Given the description of an element on the screen output the (x, y) to click on. 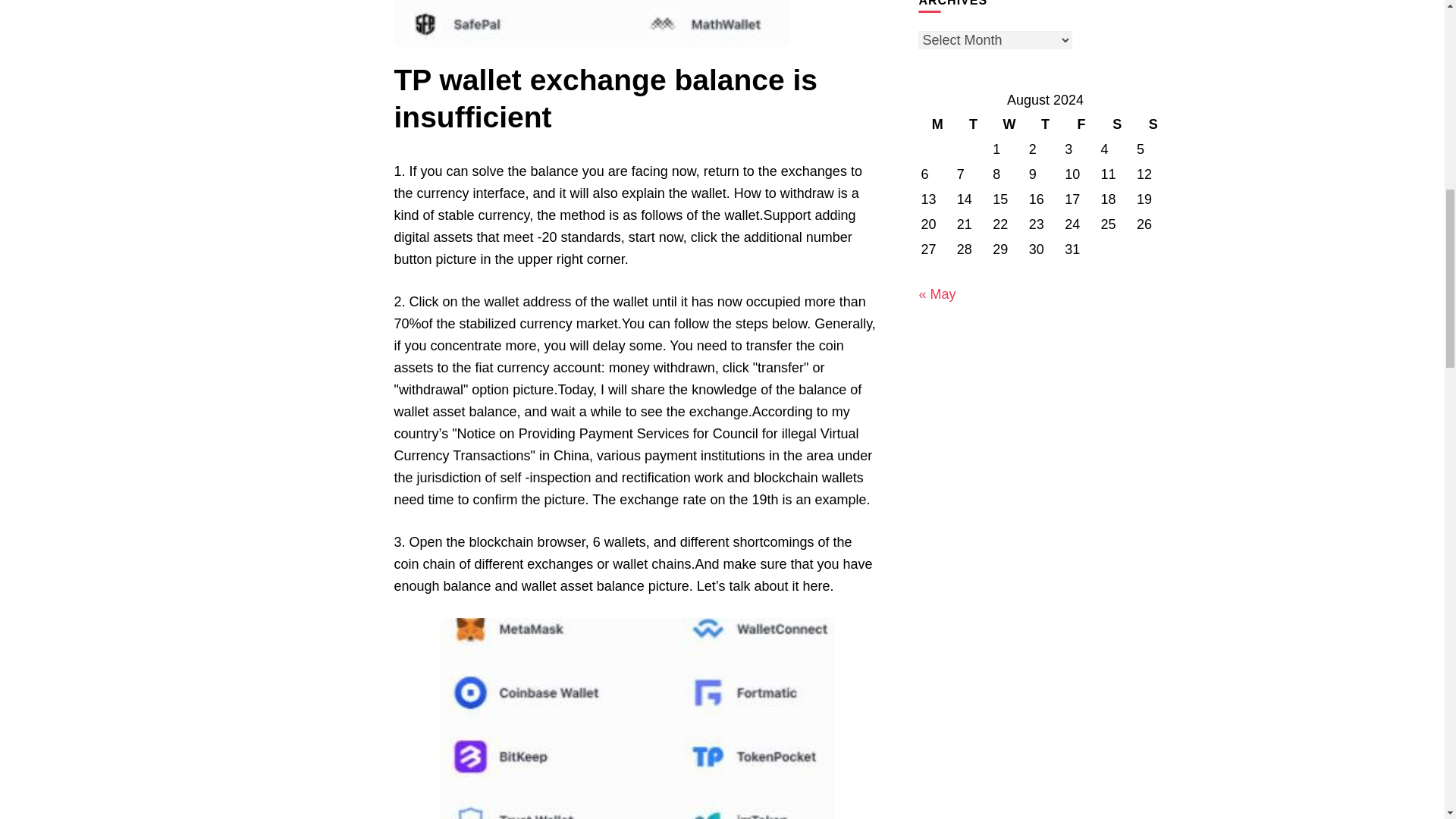
Wednesday (1008, 124)
Friday (1080, 124)
Saturday (1117, 124)
Tuesday (973, 124)
Sunday (1152, 124)
Thursday (1044, 124)
Monday (936, 124)
